Given the description of an element on the screen output the (x, y) to click on. 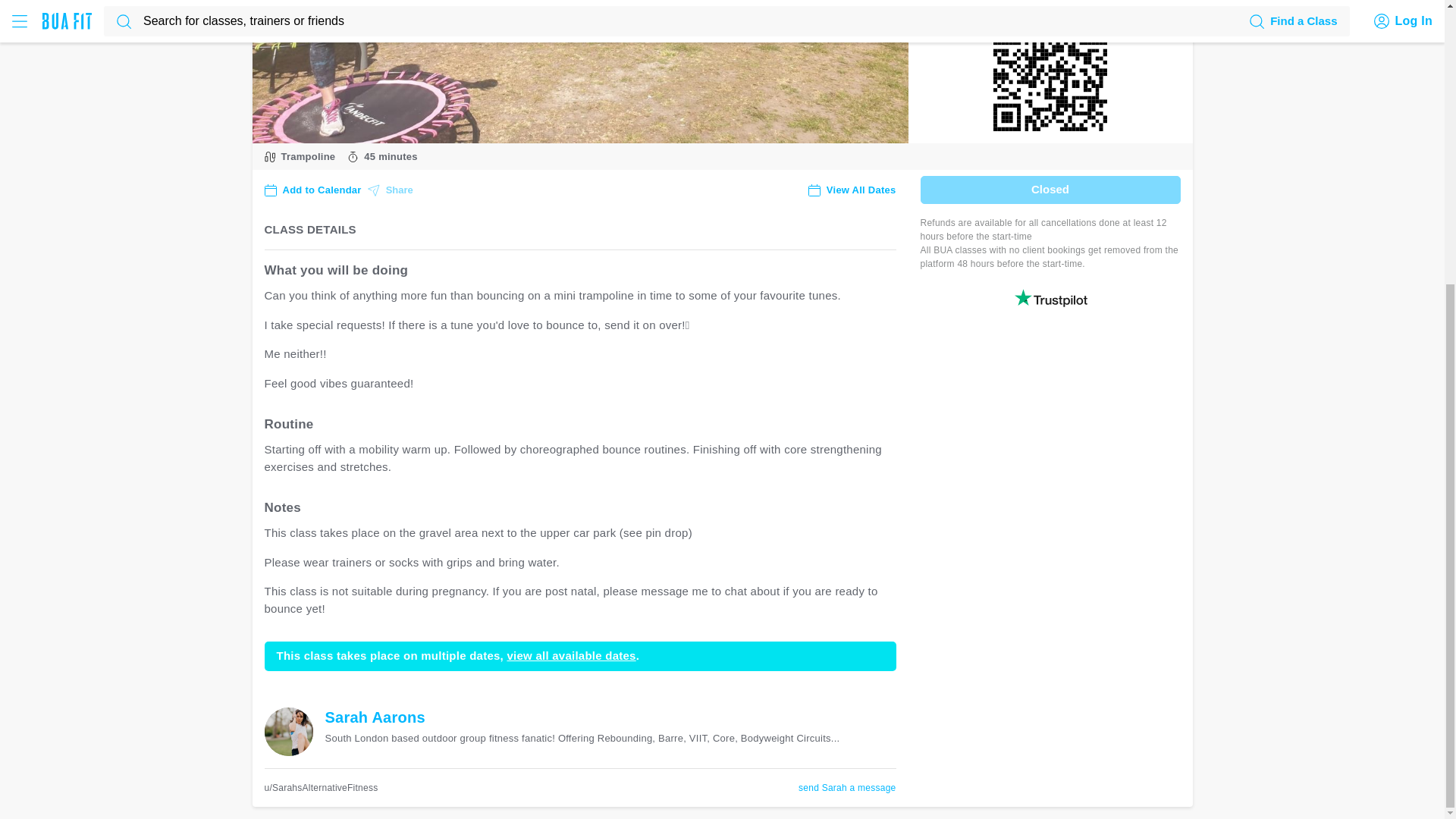
Trampoline (305, 159)
send Sarah a message (846, 787)
view all dates (965, 2)
download QR code (1050, 80)
Share (390, 190)
Add to Calendar (312, 190)
Closed (1050, 189)
Customer reviews powered by Trustpilot (1050, 298)
Sarah Aarons (374, 717)
View All Dates (852, 190)
